Given the description of an element on the screen output the (x, y) to click on. 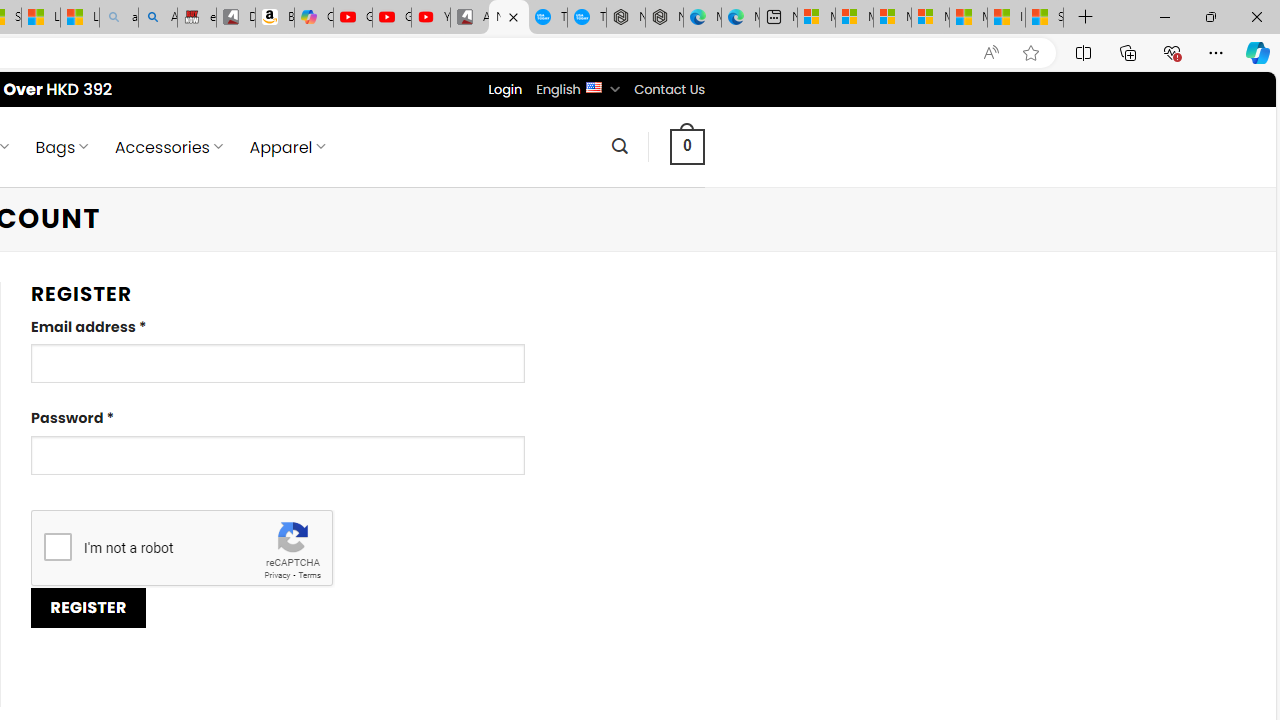
YouTube Kids - An App Created for Kids to Explore Content (431, 17)
  0   (687, 146)
REGISTER (88, 607)
Terms (309, 575)
